Given the description of an element on the screen output the (x, y) to click on. 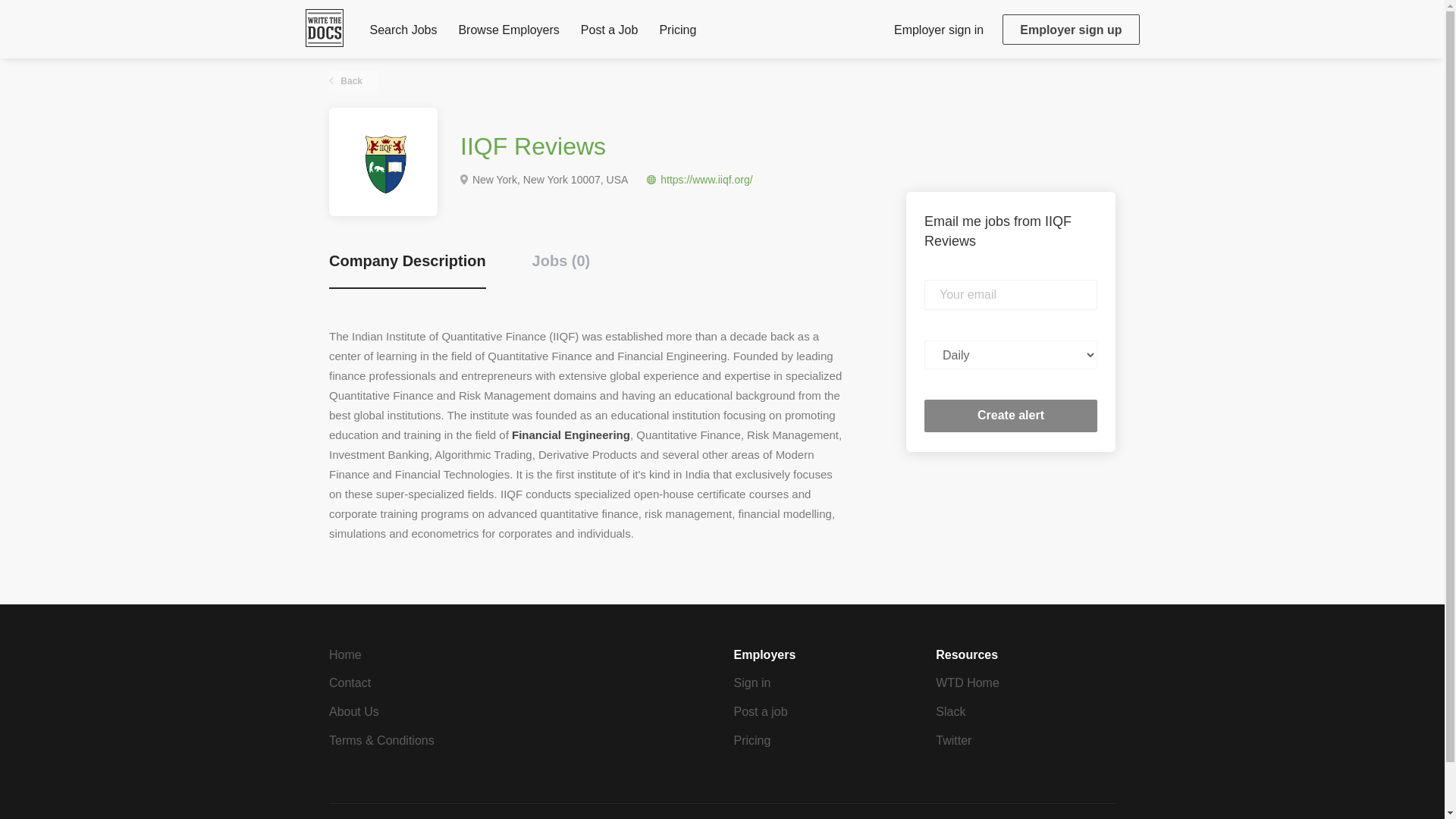
Pricing (752, 739)
Contact (350, 682)
Employer sign in (938, 28)
Post a Job (609, 32)
Home (345, 654)
About Us (353, 711)
Employer sign up (1070, 29)
Search Jobs (403, 32)
WTD Home (967, 682)
Pricing (677, 32)
